Given the description of an element on the screen output the (x, y) to click on. 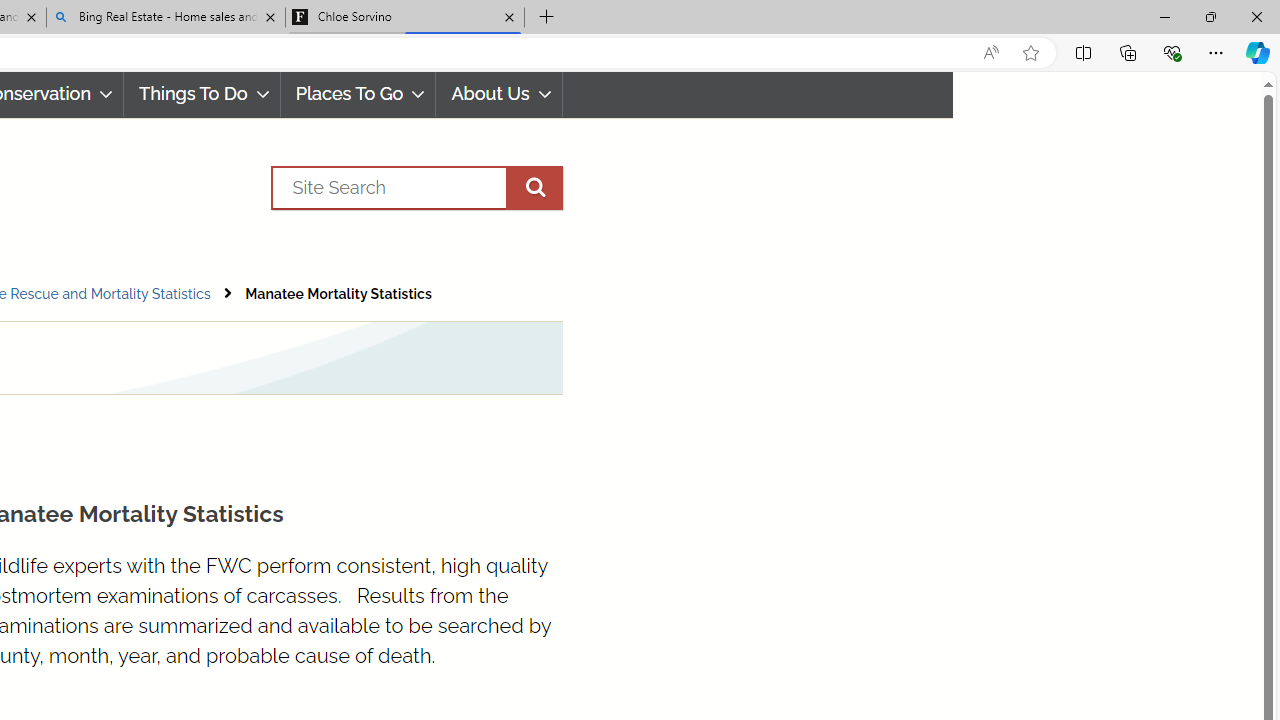
Manatee Mortality Statistics (338, 294)
Things To Do (202, 94)
Places To Go (358, 94)
